Given the description of an element on the screen output the (x, y) to click on. 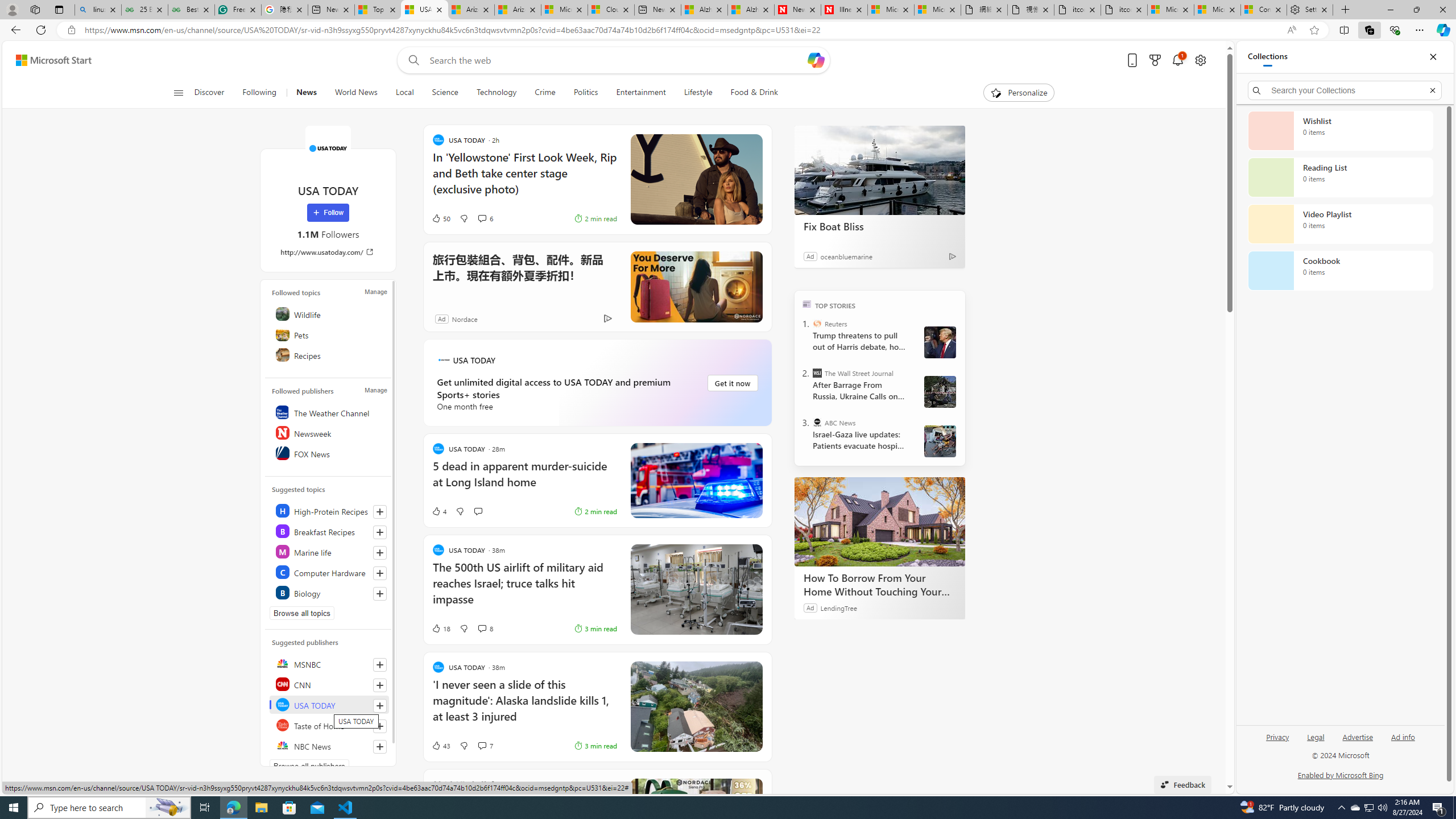
itconcepthk.com/projector_solutions.mp4 (1123, 9)
Browse all topics (301, 612)
18 Like (440, 628)
Fix Boat Bliss (879, 169)
